Given the description of an element on the screen output the (x, y) to click on. 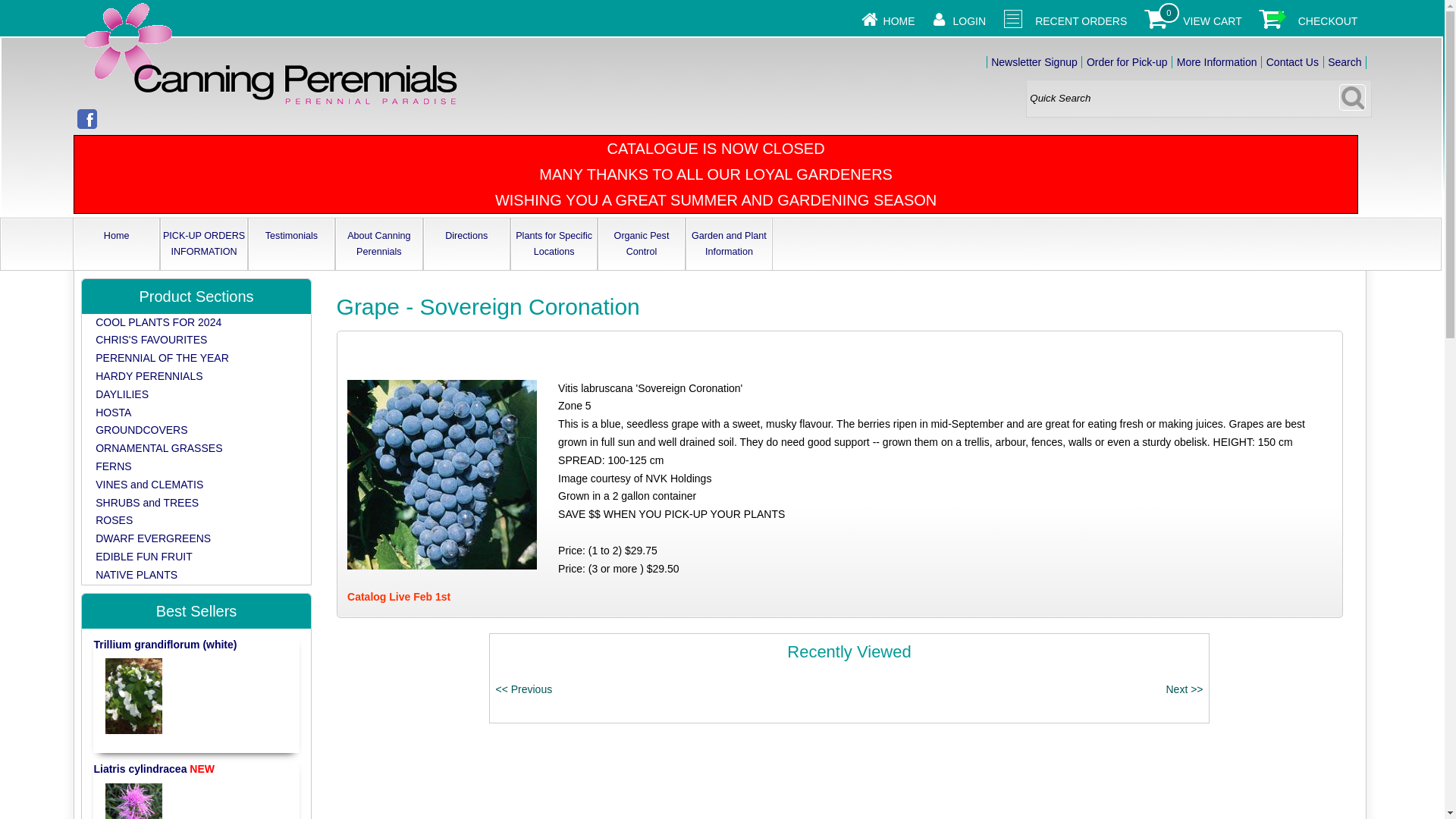
Order for Pick-up (1126, 61)
LOGIN (970, 21)
Contact Us (1292, 61)
ORNAMENTAL GRASSES (159, 448)
About Canning Perennials (379, 243)
Search (1344, 61)
Directions (466, 235)
FERNS (113, 466)
Grape - Sovereign Coronation (442, 474)
HOME (899, 21)
ROSES (114, 520)
DWARF EVERGREENS (153, 538)
Canning Perennials CATALOGUE (270, 55)
Home (116, 235)
COOL PLANTS FOR 2024 (158, 322)
